Given the description of an element on the screen output the (x, y) to click on. 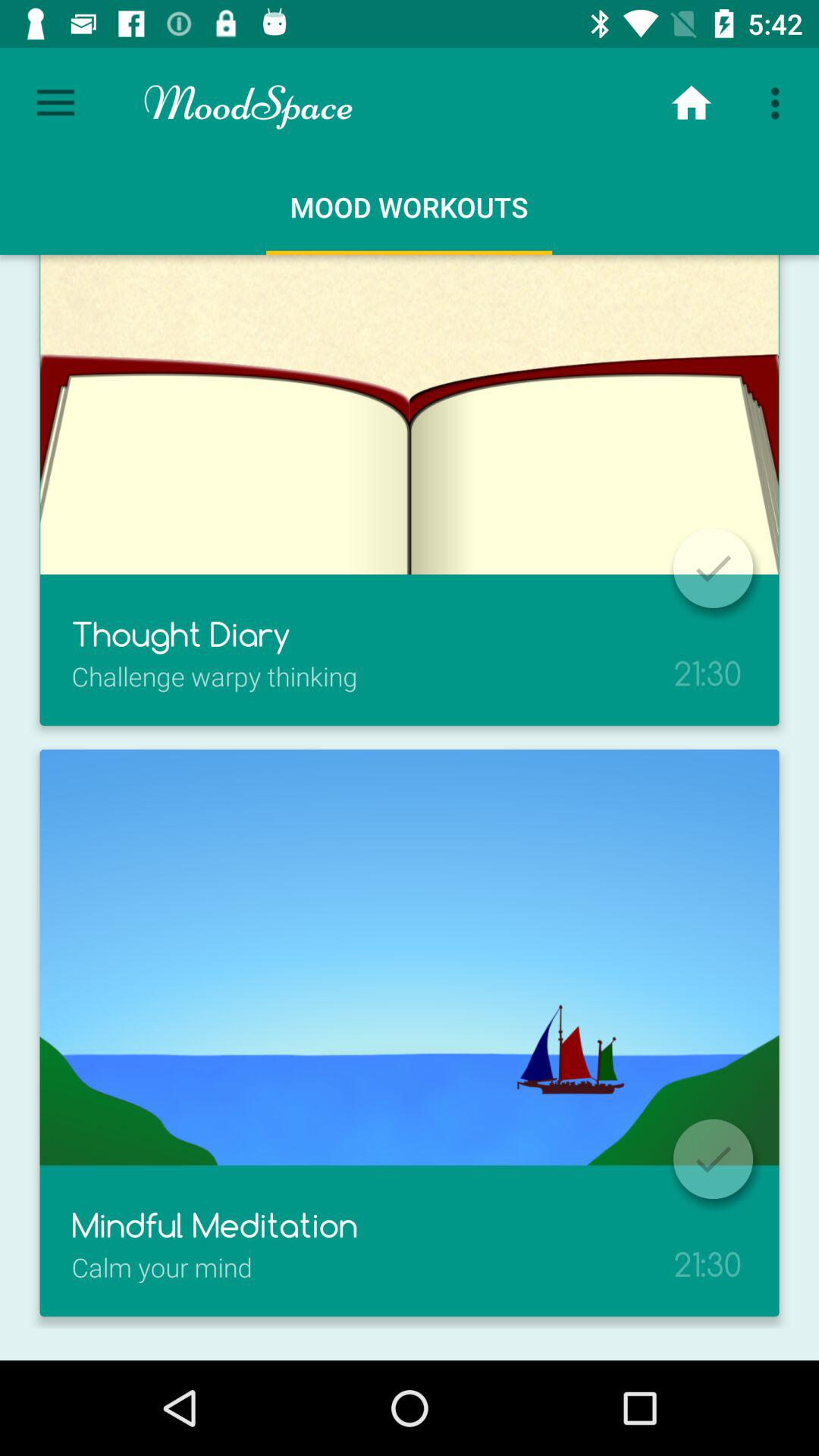
tap icon to the right of the moodspace item (691, 103)
